Given the description of an element on the screen output the (x, y) to click on. 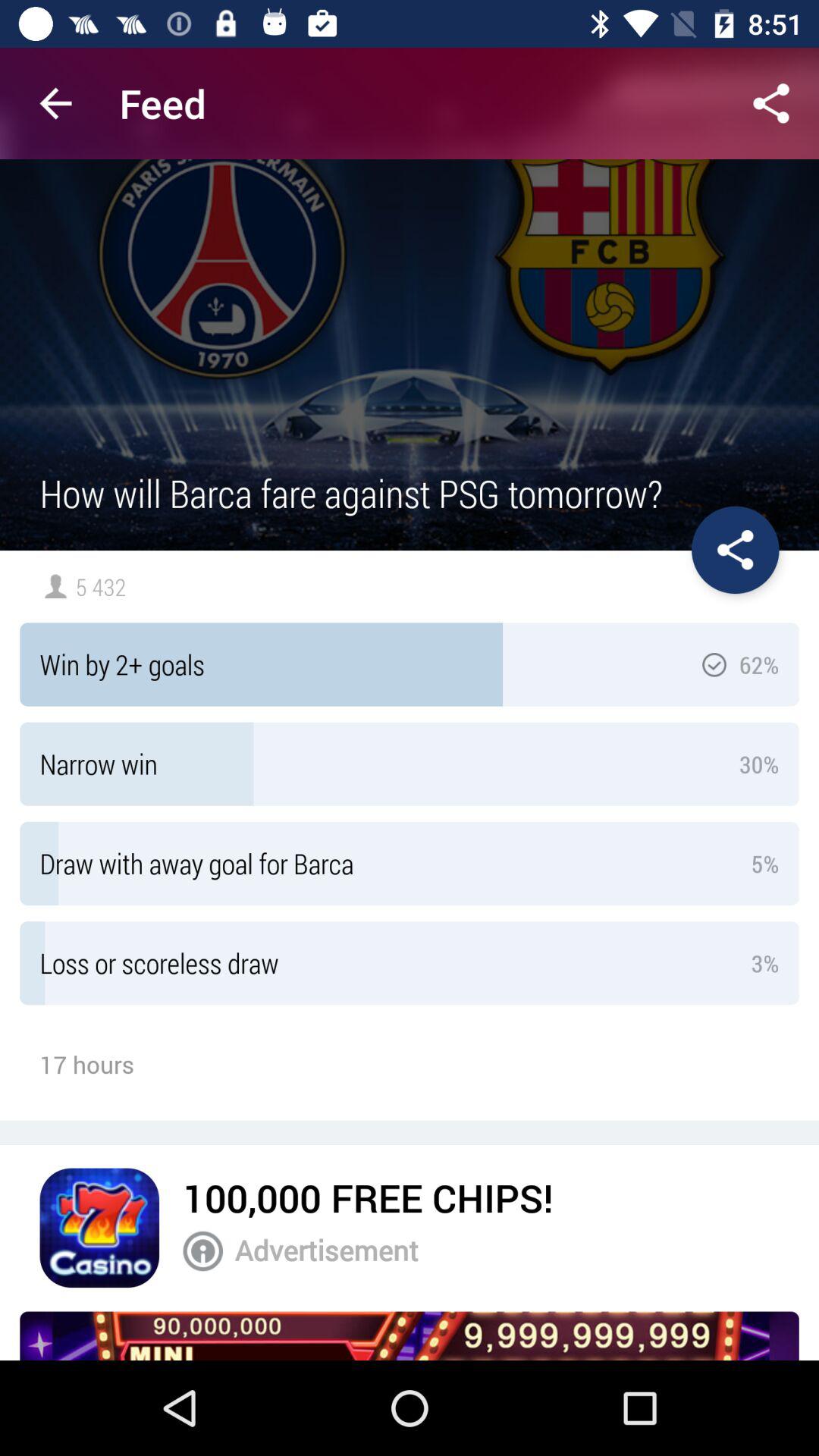
tap the icon below loss or scoreless item (368, 1197)
